Given the description of an element on the screen output the (x, y) to click on. 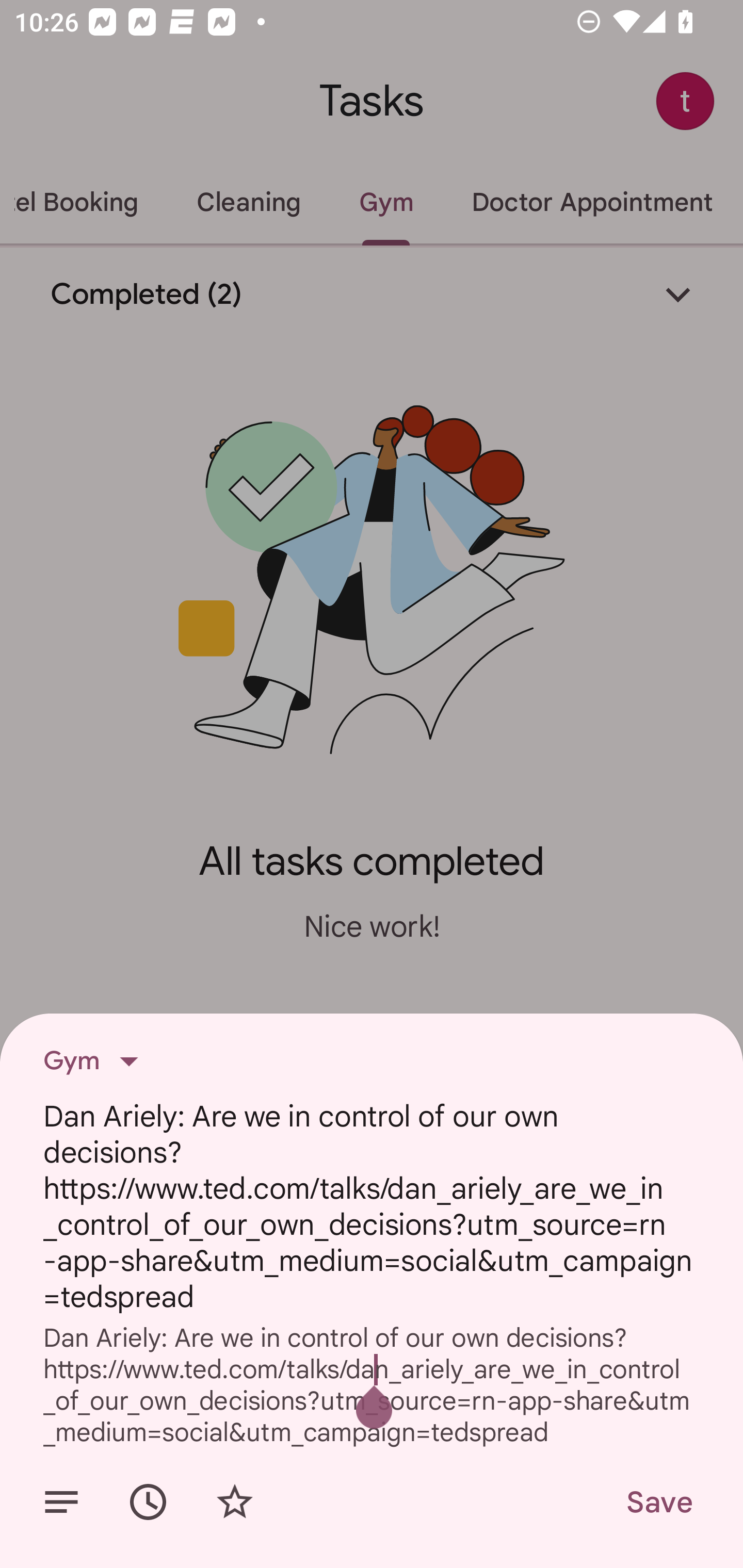
Gym List, Gym selected, 1 of 6 (96, 1061)
Save (659, 1501)
Add details (60, 1501)
Set date/time (147, 1501)
Add star (234, 1501)
